Given the description of an element on the screen output the (x, y) to click on. 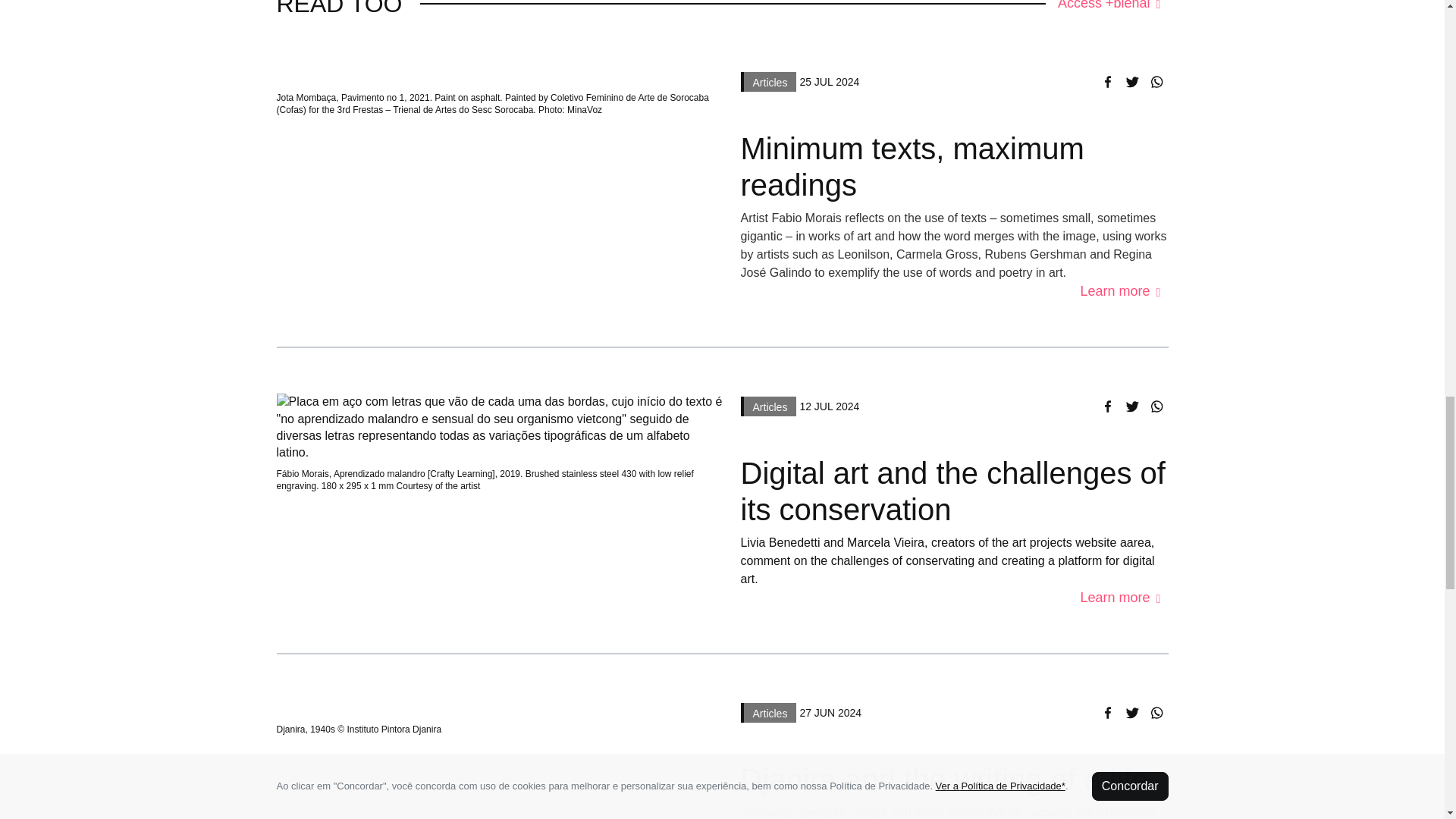
Twitter (1131, 405)
Whatsapp (1155, 712)
Articles (767, 80)
Facebook (1107, 405)
Facebook (1107, 81)
Twitter (1131, 81)
Facebook (1107, 712)
Twitter (1131, 712)
Whatsapp (1155, 405)
Whatsapp (1155, 81)
